Given the description of an element on the screen output the (x, y) to click on. 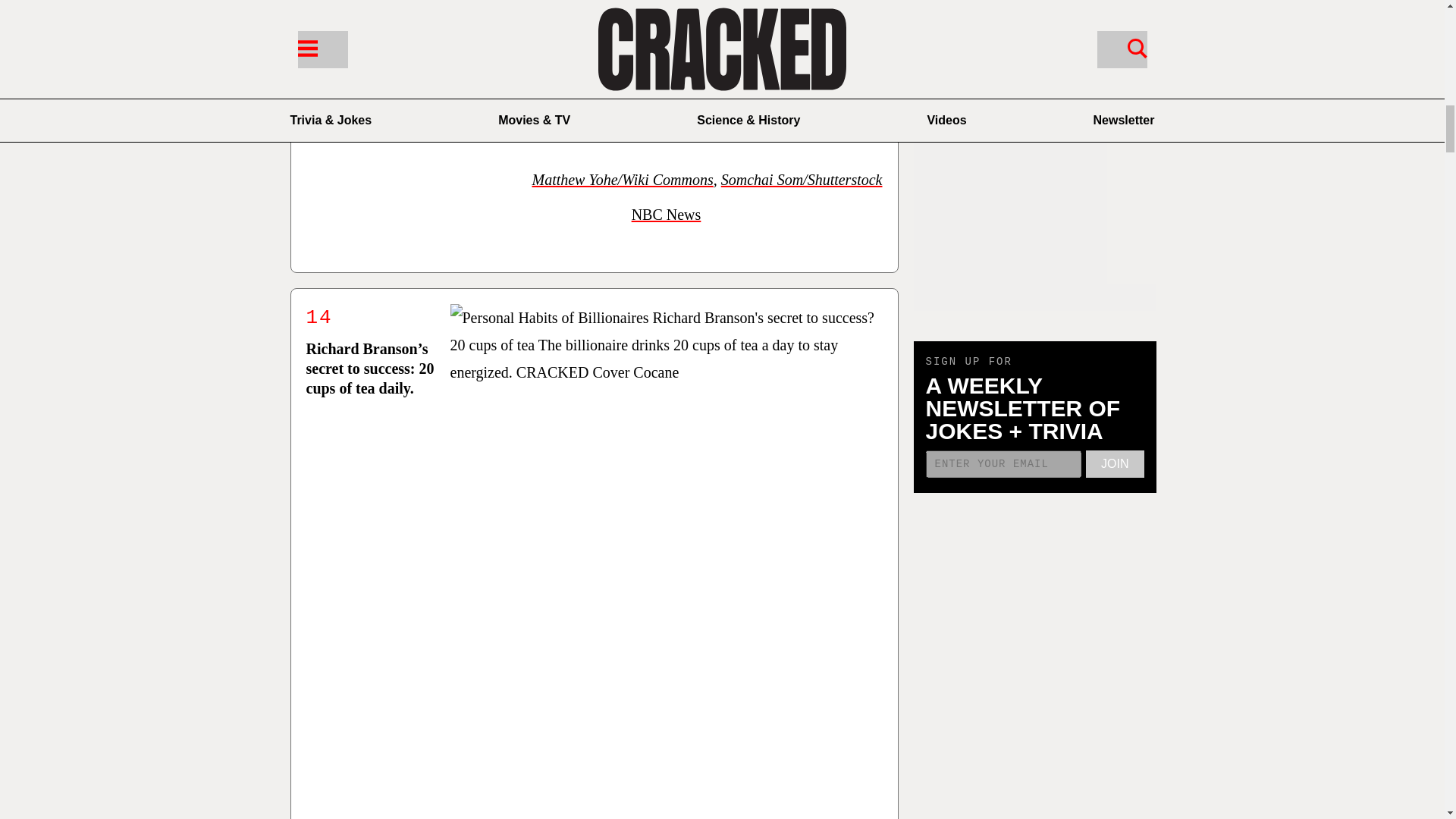
NBC News (666, 214)
